Given the description of an element on the screen output the (x, y) to click on. 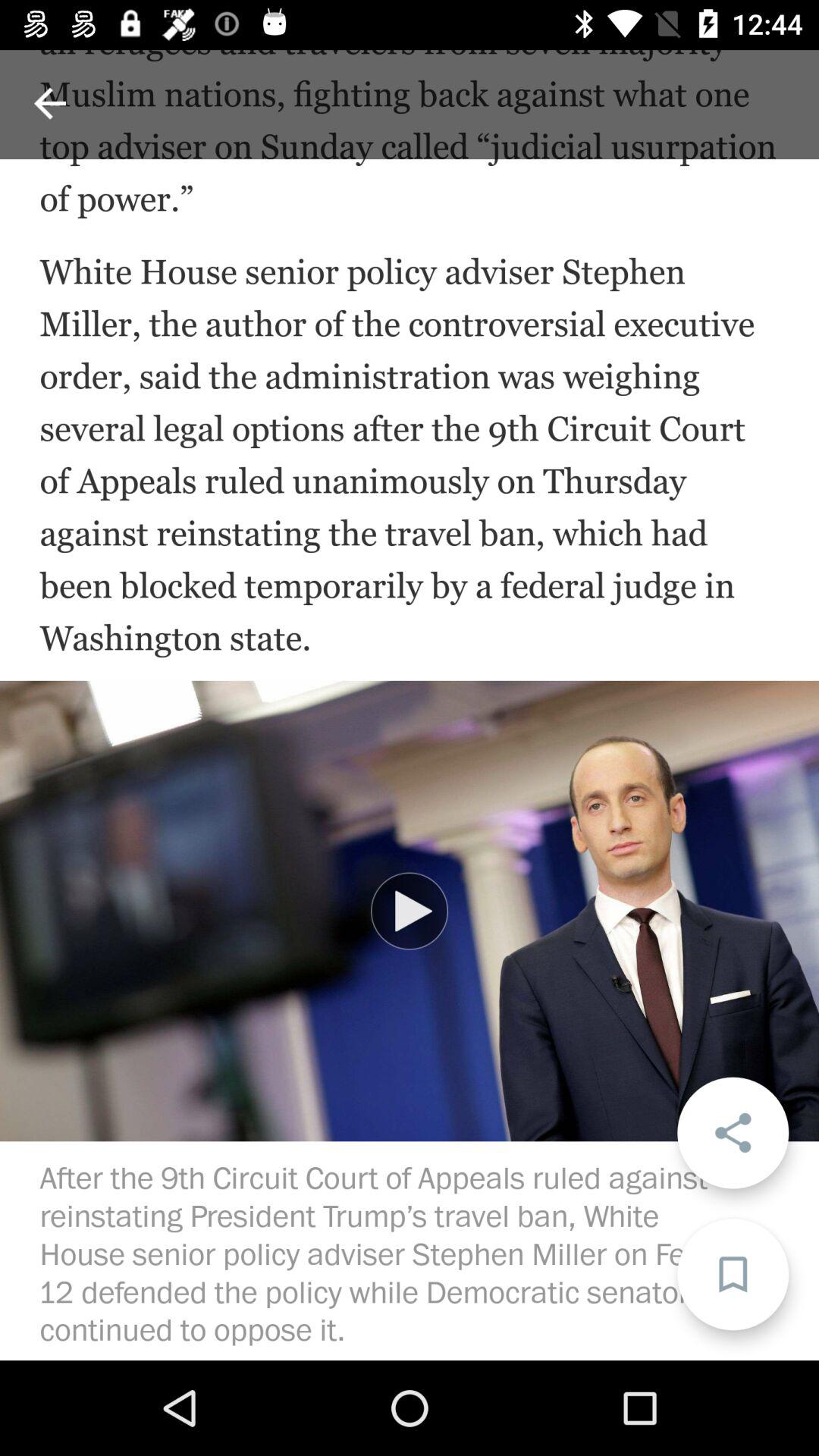
go to previous screen (49, 103)
